Given the description of an element on the screen output the (x, y) to click on. 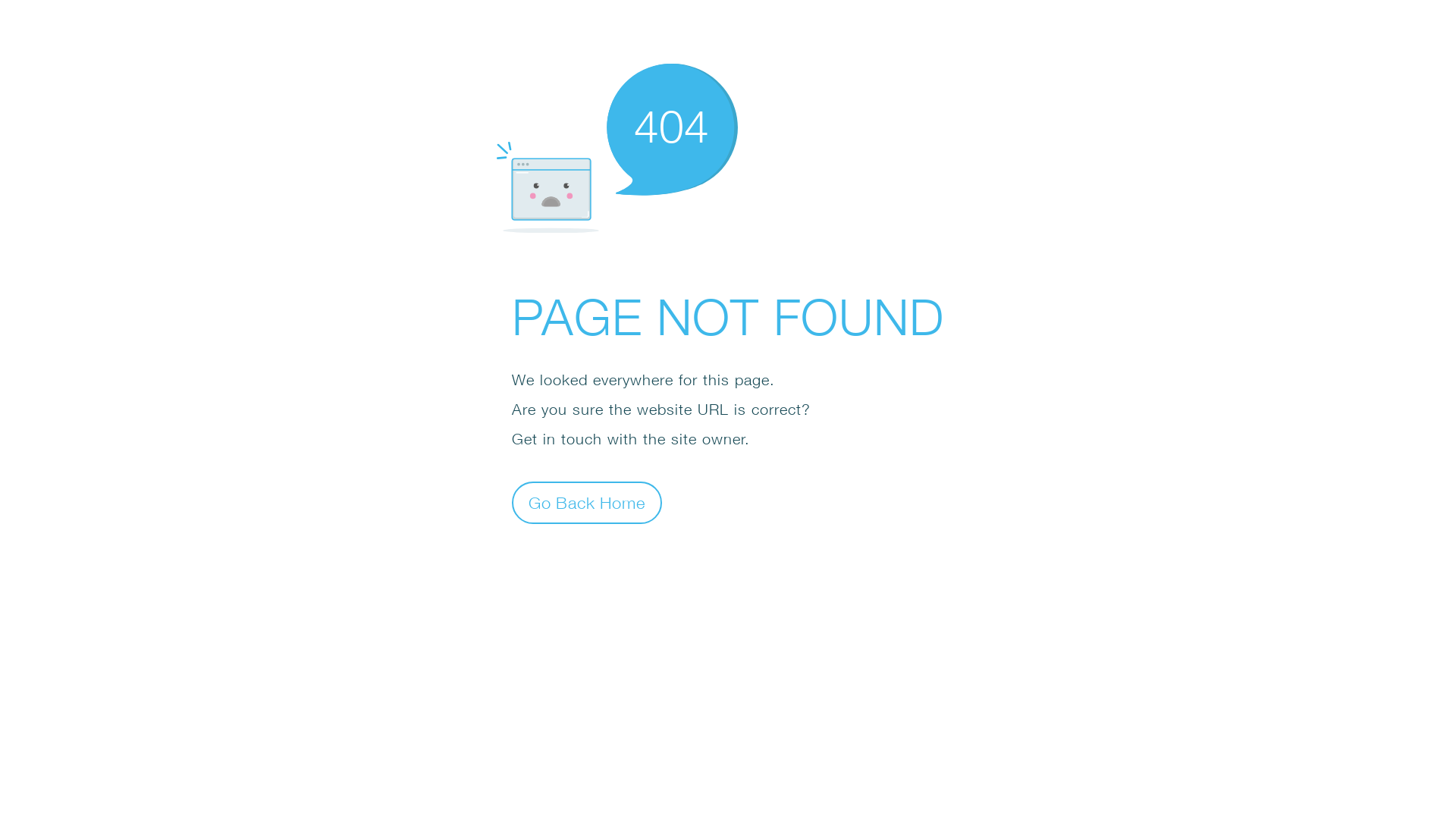
Go Back Home Element type: text (586, 502)
